Given the description of an element on the screen output the (x, y) to click on. 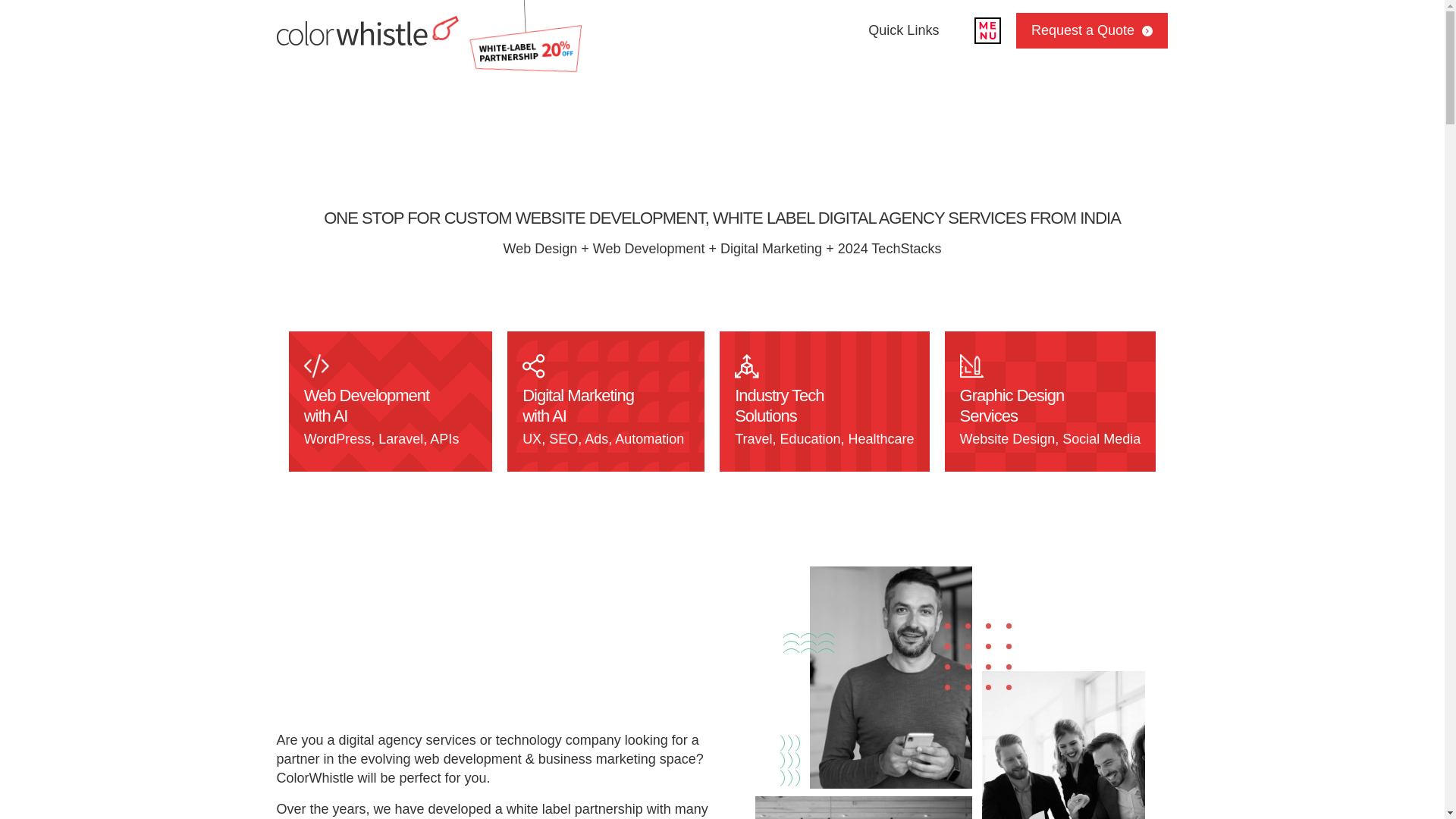
chart-3d (746, 365)
Web Development Agency India B2B White Label - ColorWhistle (949, 692)
design-line (971, 365)
Request a Quote (1143, 30)
Industry Tech Solutions - Travel, Education, Healthcare (823, 401)
Request a Quote (1091, 30)
Menu Trigger (987, 30)
Web Development with AI - WordPress, Laravel, APIs (390, 401)
Quick Links (903, 30)
ColorWhistle (314, 54)
white-label-20percent (523, 36)
Digital Marketing with AI - UX, SEO, Ads, Automation (605, 401)
Graphic Design Services - Website Design, Social Media (1050, 401)
code-slash (317, 365)
Share Icon (533, 365)
